Given the description of an element on the screen output the (x, y) to click on. 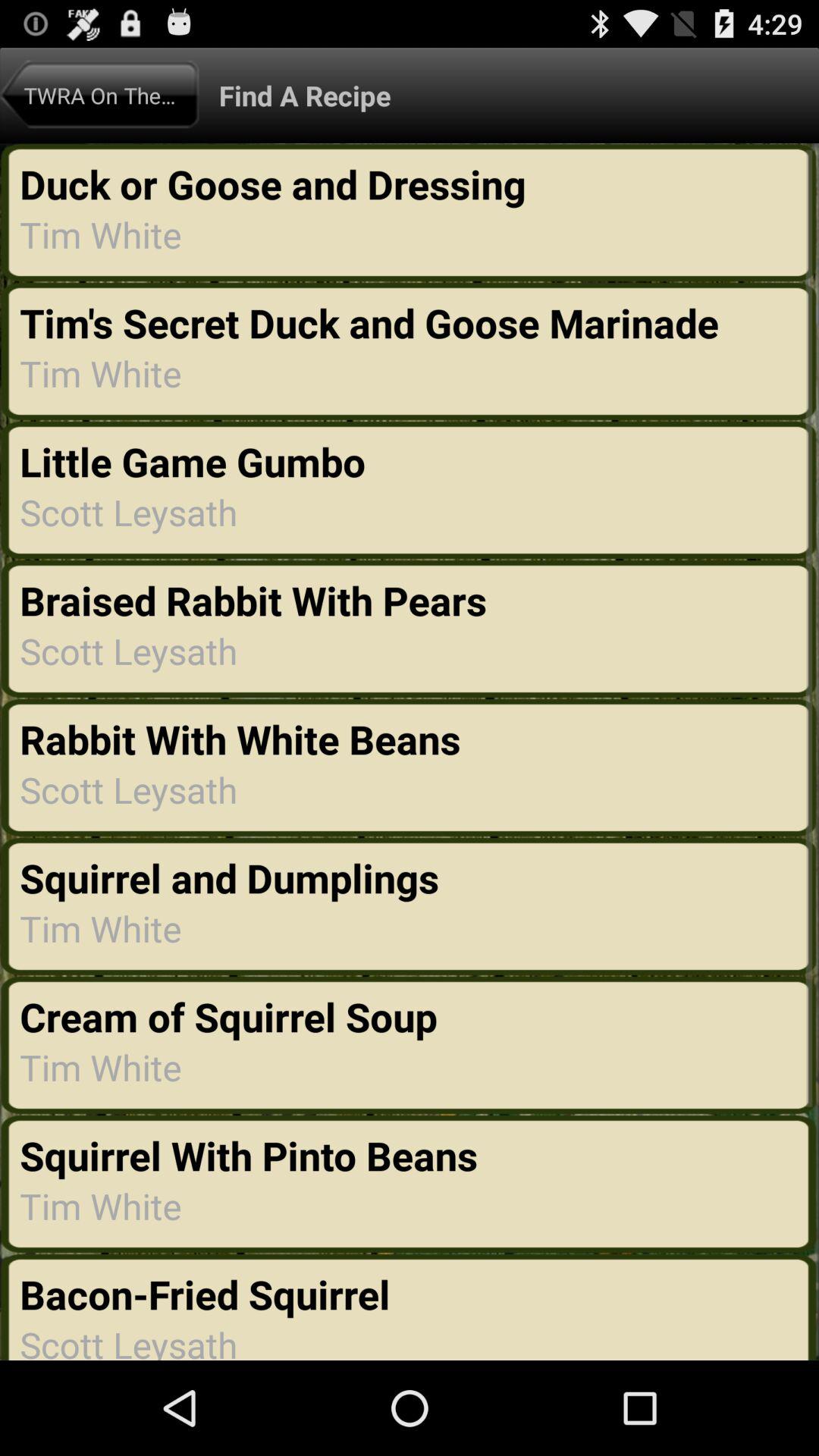
launch the item above the scott leysath  item (197, 461)
